Given the description of an element on the screen output the (x, y) to click on. 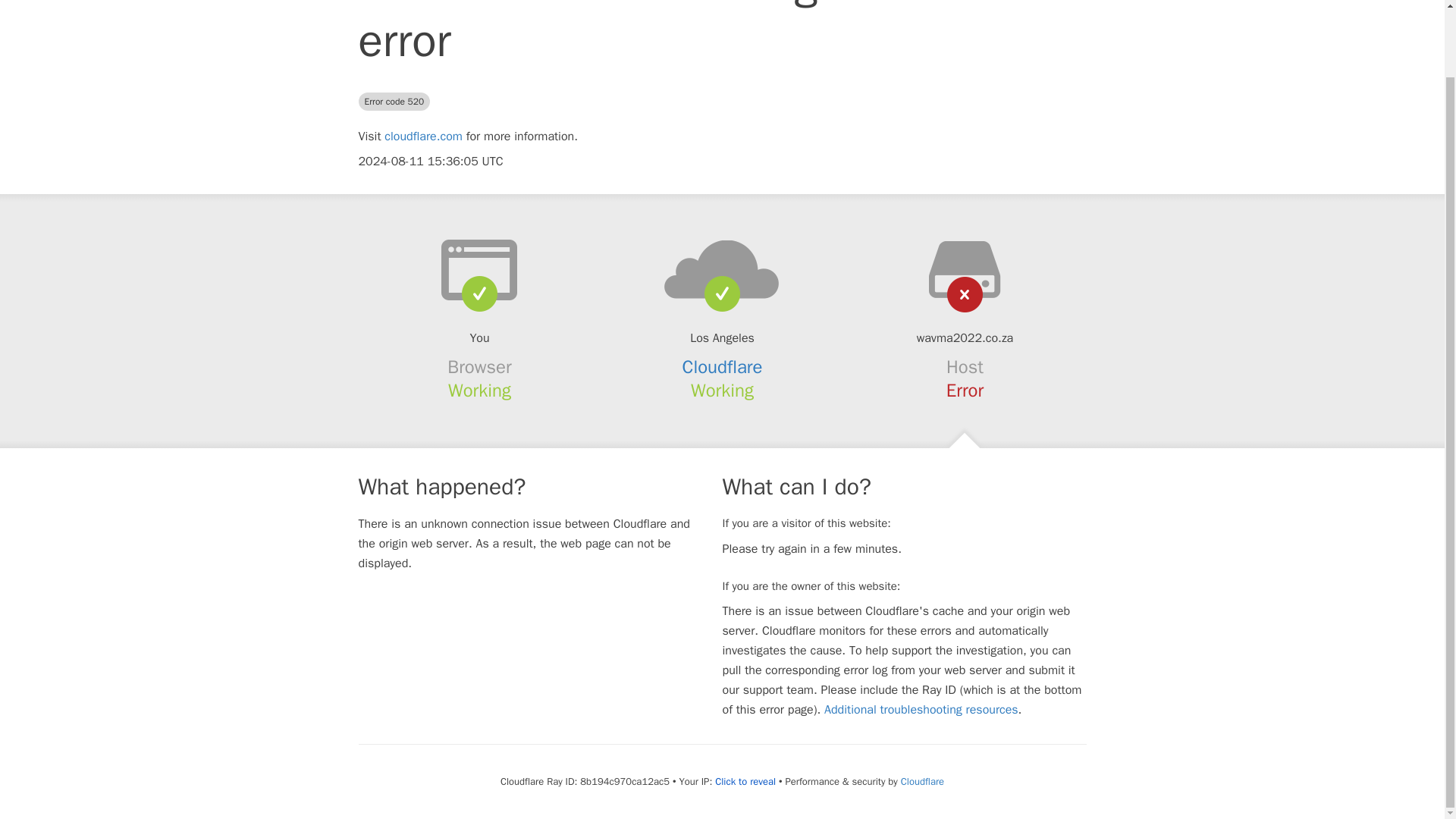
Cloudflare (722, 366)
cloudflare.com (423, 136)
Additional troubleshooting resources (920, 709)
Click to reveal (745, 781)
Cloudflare (922, 780)
